Given the description of an element on the screen output the (x, y) to click on. 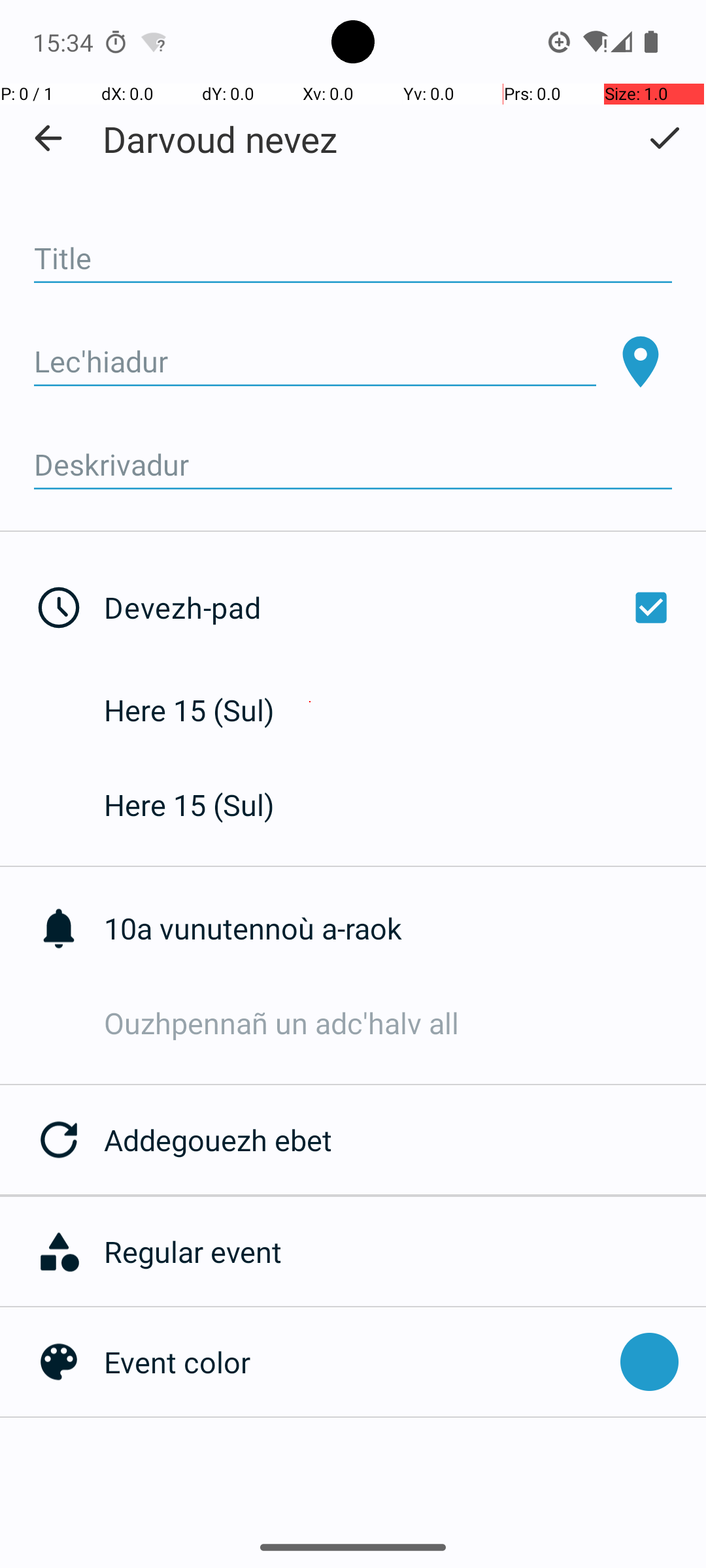
Darvoud nevez Element type: android.widget.TextView (219, 138)
Lec'hiadur Element type: android.widget.EditText (314, 361)
Deskrivadur Element type: android.widget.EditText (352, 465)
Here 15 (Sul) Element type: android.widget.TextView (202, 709)
10a vunutennoù a-raok Element type: android.widget.TextView (404, 927)
Ouzhpennañ un adc'halv all Element type: android.widget.TextView (404, 1022)
Addegouezh ebet Element type: android.widget.TextView (404, 1139)
Devezh-pad Element type: android.widget.CheckBox (390, 607)
